Given the description of an element on the screen output the (x, y) to click on. 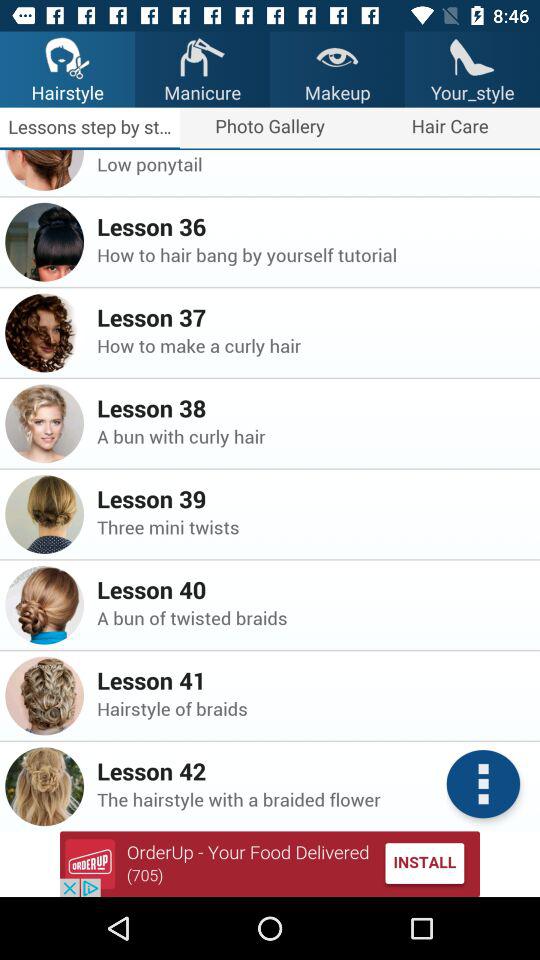
jump until lesson 39 icon (311, 498)
